Given the description of an element on the screen output the (x, y) to click on. 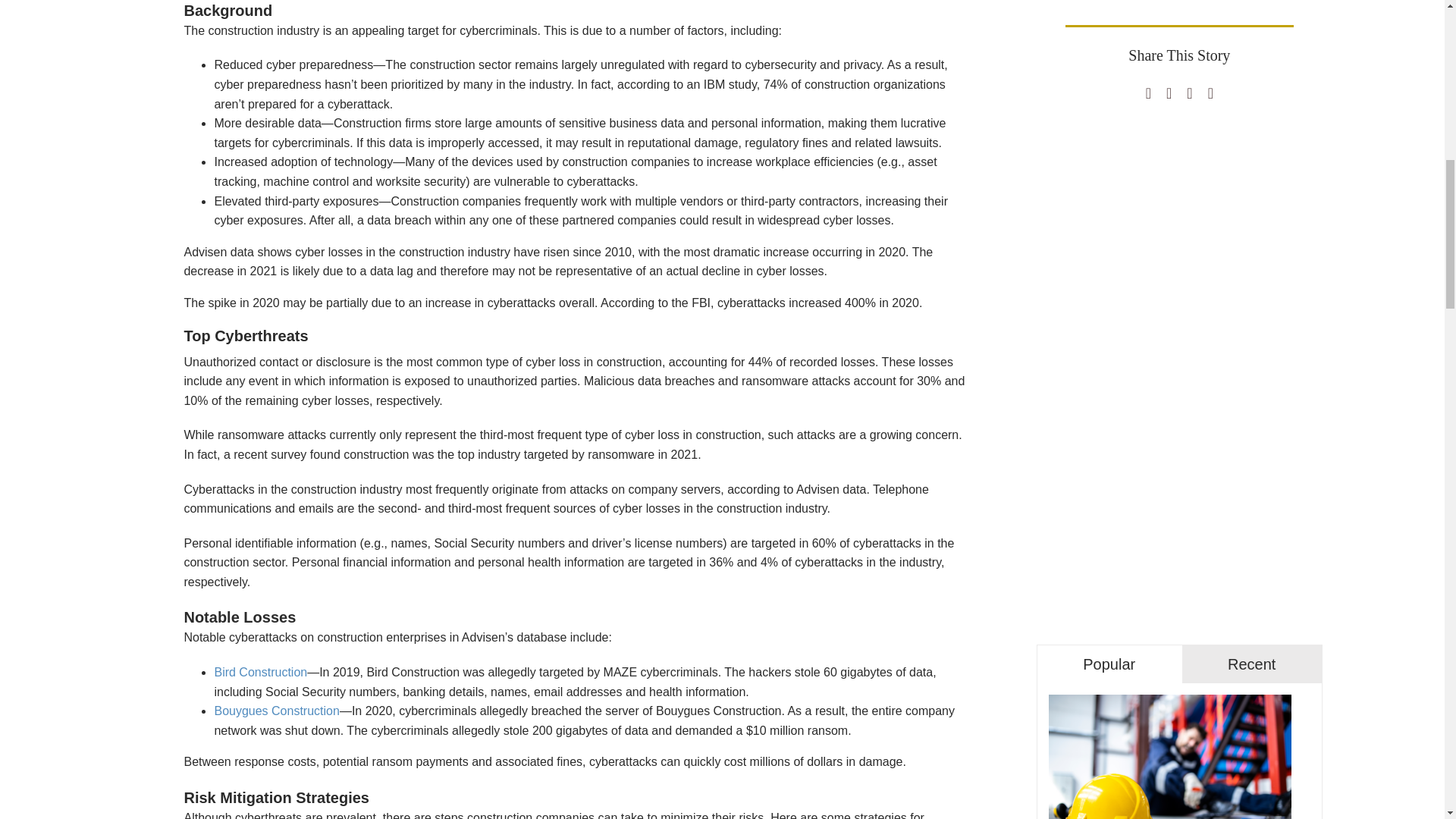
Facebook (1148, 92)
Email (1210, 92)
Twitter (1168, 92)
LinkedIn (1189, 92)
